Given the description of an element on the screen output the (x, y) to click on. 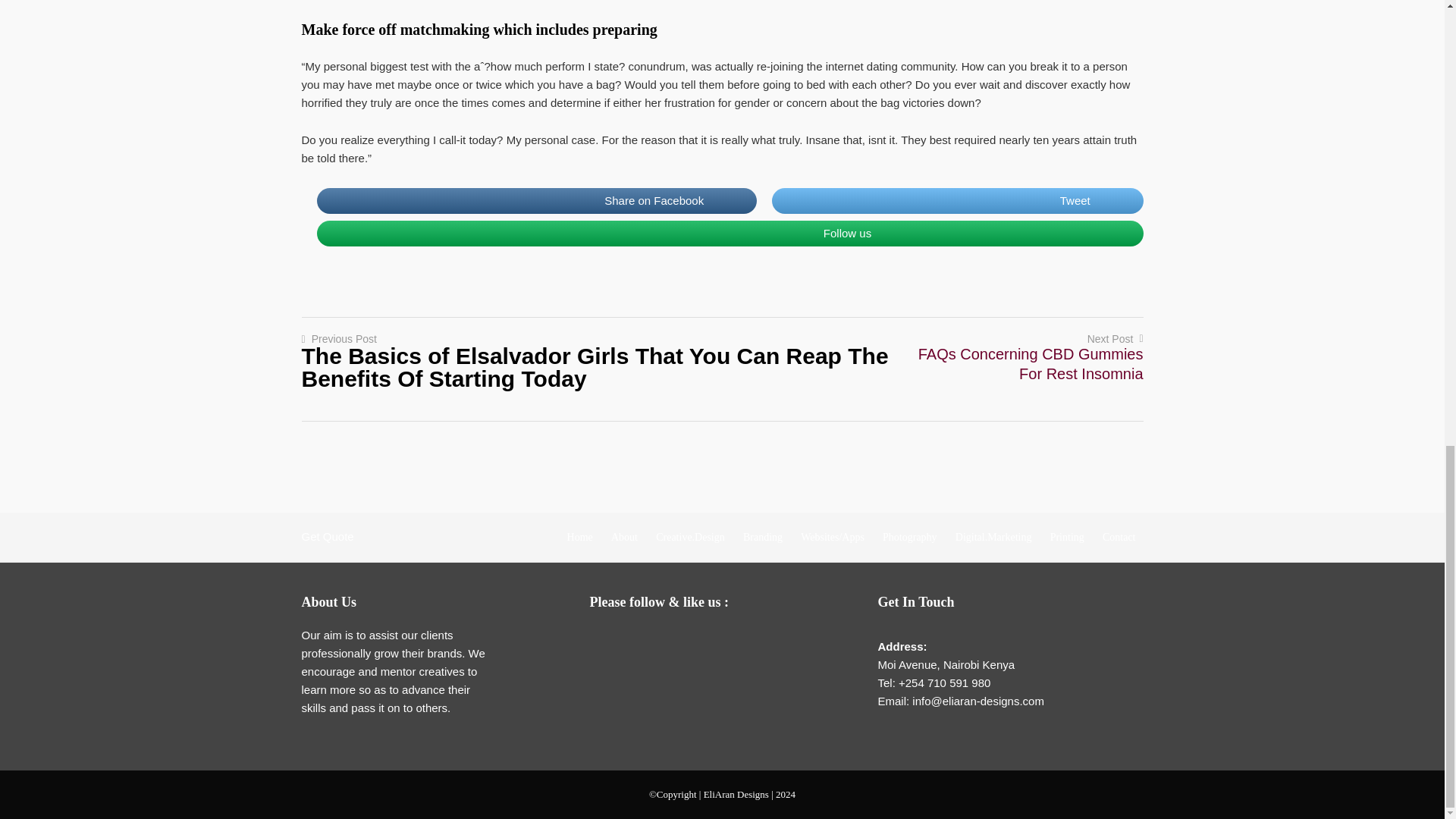
Twitter (667, 640)
LinkedIn (698, 640)
Facebook (637, 640)
Follow by Email (606, 640)
Instagram (728, 640)
